Given the description of an element on the screen output the (x, y) to click on. 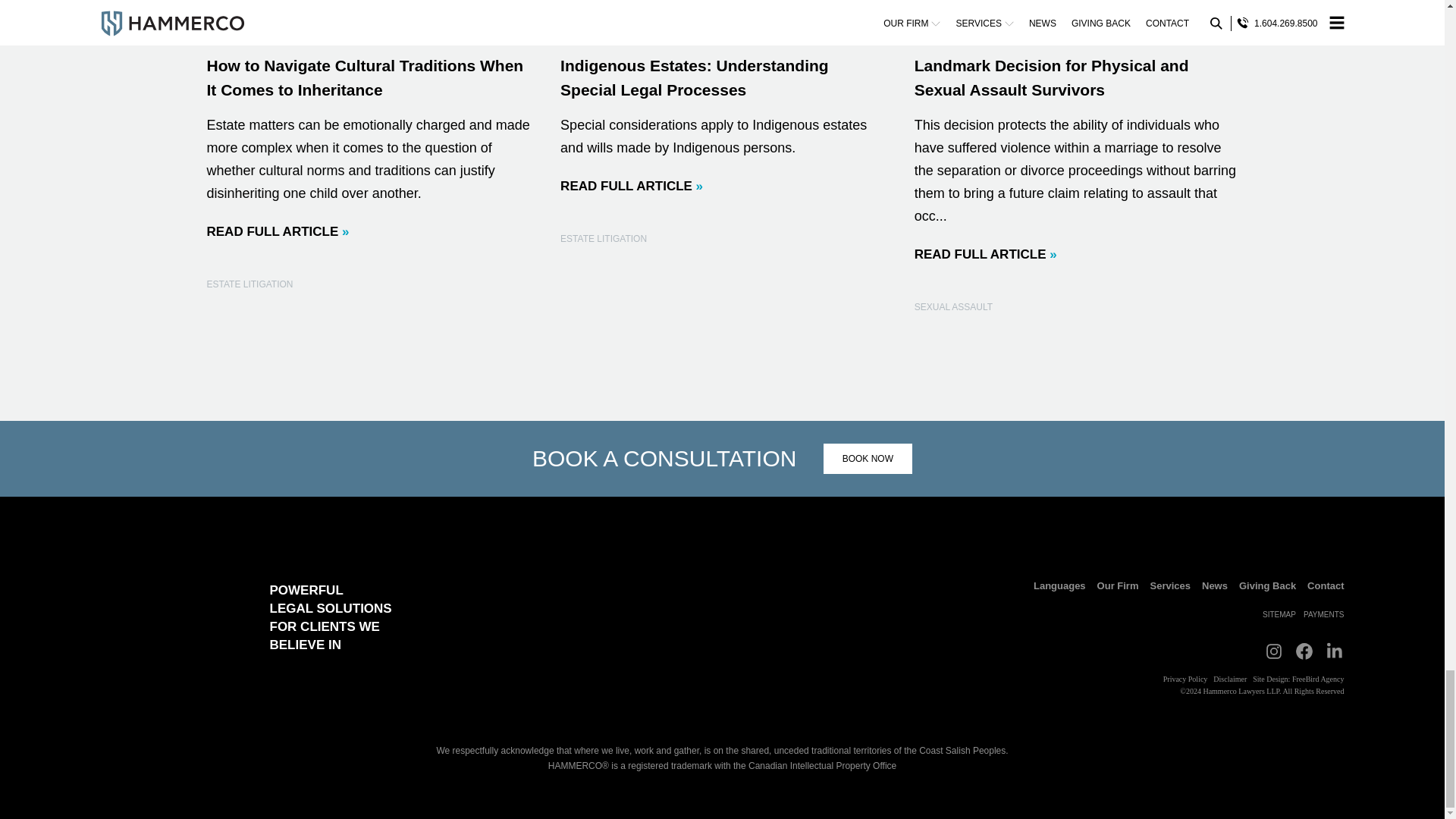
Hammerco Lawyers (160, 617)
